Given the description of an element on the screen output the (x, y) to click on. 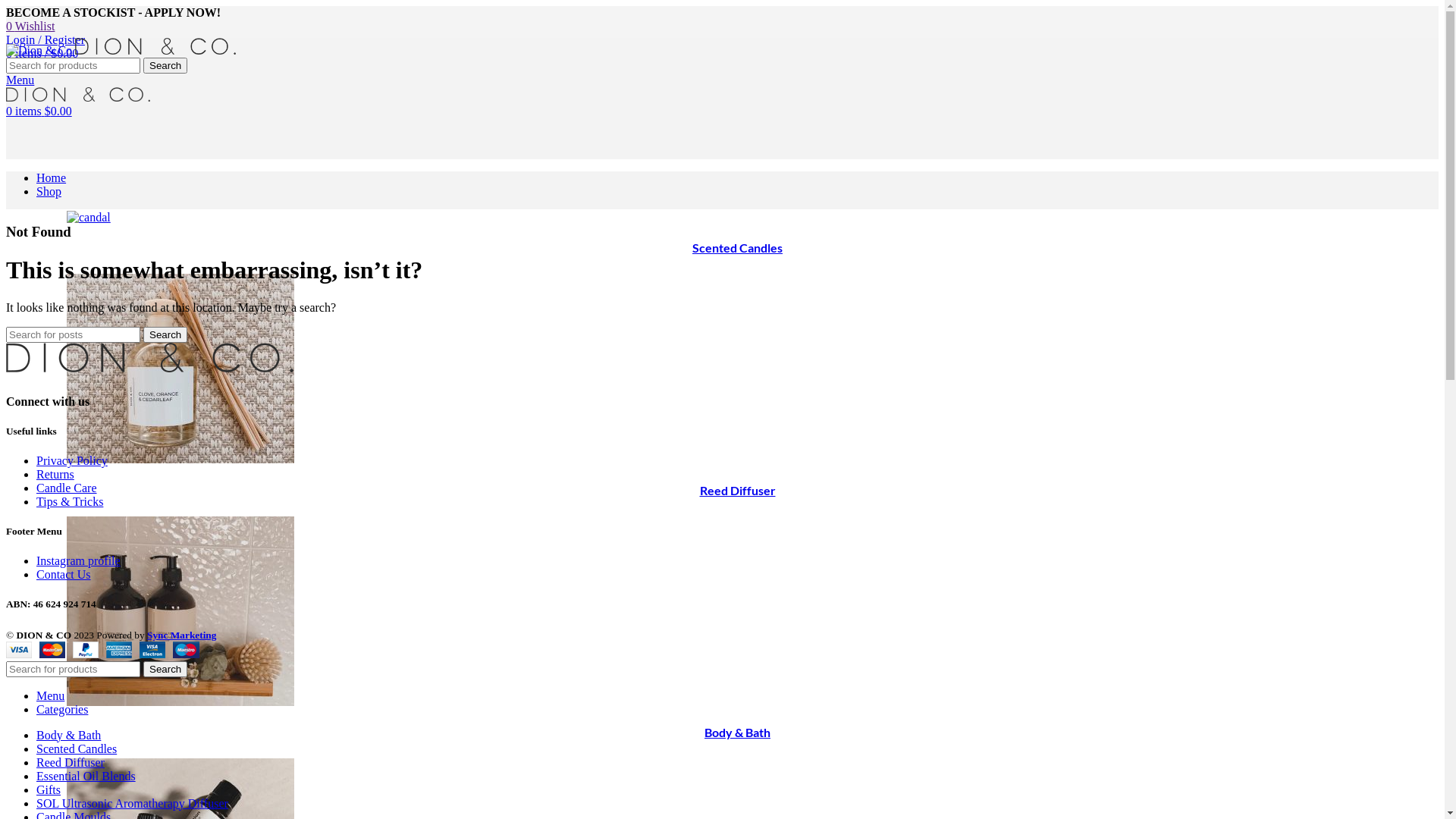
Home Element type: text (50, 177)
Scented Candles Element type: text (76, 748)
Scented Candles Element type: text (737, 247)
Shop Element type: text (48, 191)
Login / Register Element type: text (45, 39)
esstioal-oil Element type: hover (180, 611)
Menu Element type: text (20, 79)
Search for posts Element type: hover (73, 334)
Reed Diffuser Element type: text (70, 762)
Reed Diffuser Element type: text (737, 490)
Body & Bath Element type: text (68, 734)
Tips & Tricks Element type: text (69, 501)
Search for products Element type: hover (73, 65)
Search Element type: text (165, 65)
Candle Care Element type: text (66, 487)
Sync Marketing Element type: text (181, 634)
SOL Ultrasonic Aromatherapy Diffuser Element type: text (132, 803)
Search Element type: text (165, 334)
Essential Oil Blends Element type: text (85, 775)
Categories Element type: text (61, 708)
Search Element type: text (165, 669)
Returns Element type: text (55, 473)
Menu Element type: text (50, 695)
Instagram profile Element type: text (78, 560)
Search for products Element type: hover (73, 669)
Gifts Element type: text (48, 789)
Contact Us Element type: text (63, 573)
0 items $0.00 Element type: text (39, 110)
Body & Bath Element type: text (737, 731)
candal Element type: hover (88, 217)
diff-img Element type: hover (180, 368)
0 items / $0.00 Element type: text (42, 53)
Privacy Policy Element type: text (71, 460)
0 Wishlist Element type: text (30, 25)
